Given the description of an element on the screen output the (x, y) to click on. 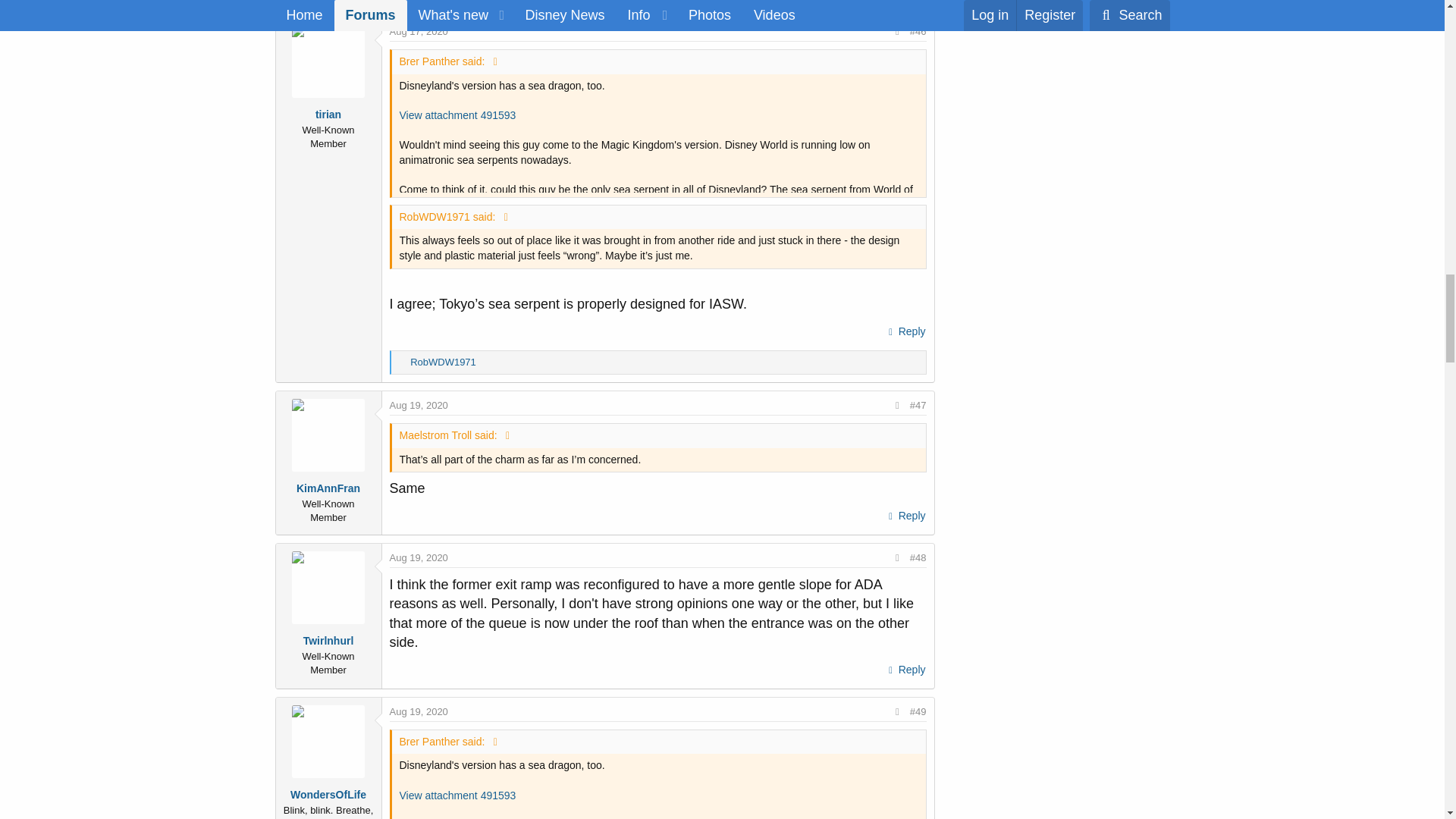
Reply, quoting this message (905, 670)
Like (401, 362)
Reply, quoting this message (905, 332)
Aug 17, 2020 at 10:29 PM (419, 30)
Reply, quoting this message (905, 516)
Aug 19, 2020 at 12:30 PM (419, 405)
Aug 19, 2020 at 1:46 PM (419, 557)
Aug 19, 2020 at 1:51 PM (419, 711)
